Given the description of an element on the screen output the (x, y) to click on. 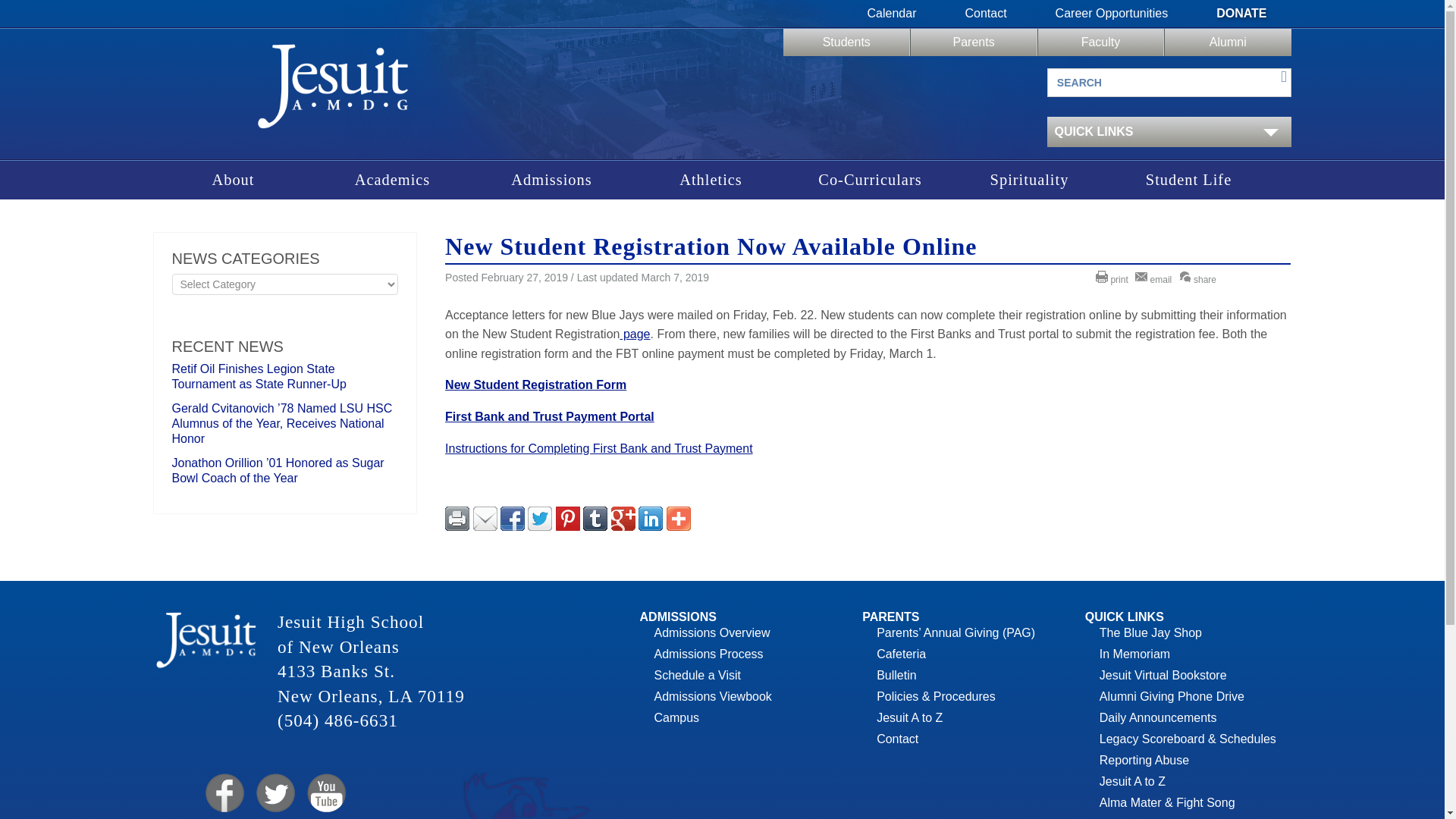
page (634, 333)
Athletics (710, 179)
Student Life (1188, 179)
print (1114, 279)
Alumni (1226, 42)
Spirituality (1028, 179)
Faculty (1099, 42)
Students (846, 42)
Instructions for Completing First Bank and Trust Payment (598, 448)
First Bank and Trust Payment Portal (549, 416)
New Student Registration Form (535, 384)
Academics (392, 179)
DONATE (1241, 13)
Jesuit High School of New Orleans (332, 91)
